Given the description of an element on the screen output the (x, y) to click on. 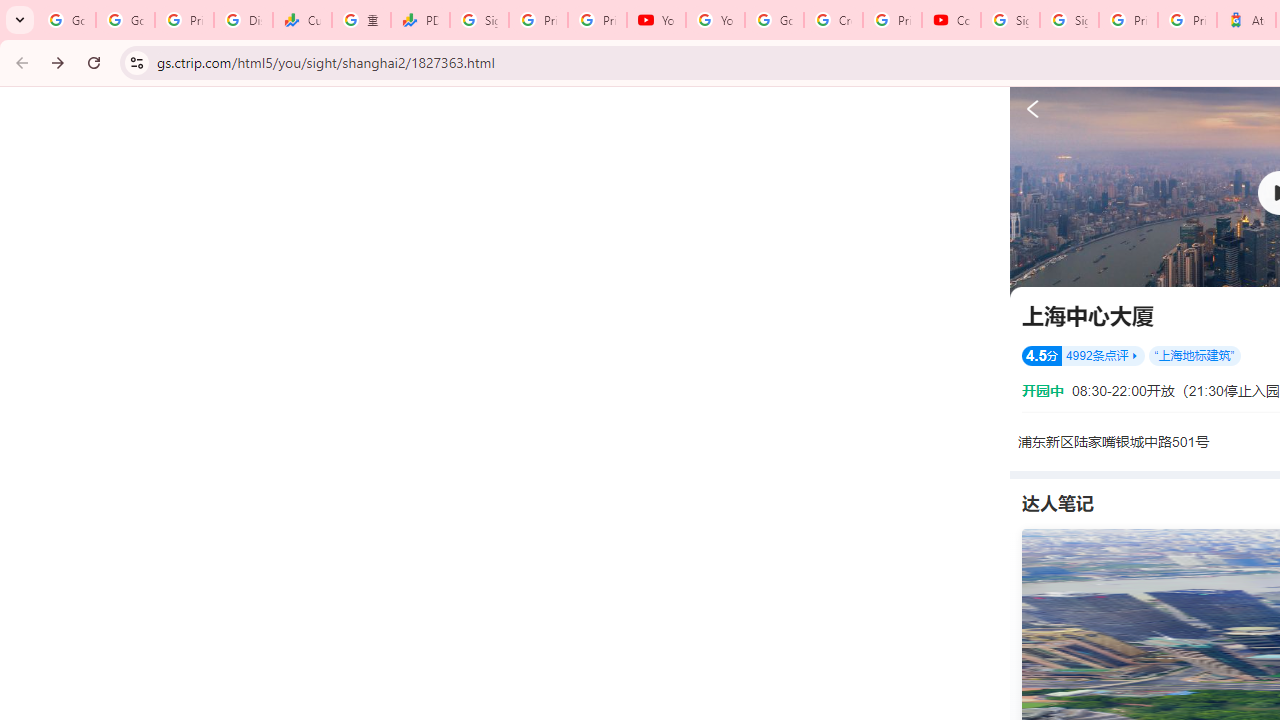
Sign in - Google Accounts (479, 20)
Sign in - Google Accounts (1069, 20)
Currencies - Google Finance (301, 20)
Content Creator Programs & Opportunities - YouTube Creators (950, 20)
Sign in - Google Accounts (1010, 20)
Create your Google Account (832, 20)
